Given the description of an element on the screen output the (x, y) to click on. 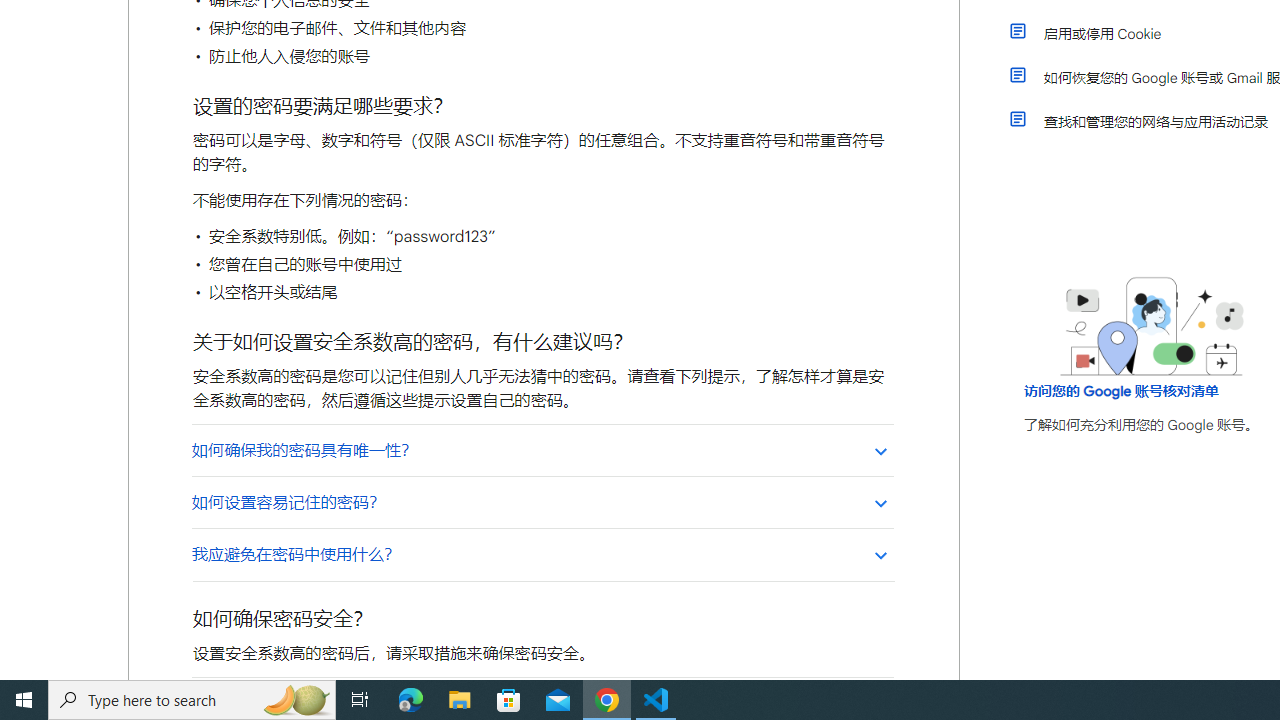
Learning Center home page image (1152, 326)
